Given the description of an element on the screen output the (x, y) to click on. 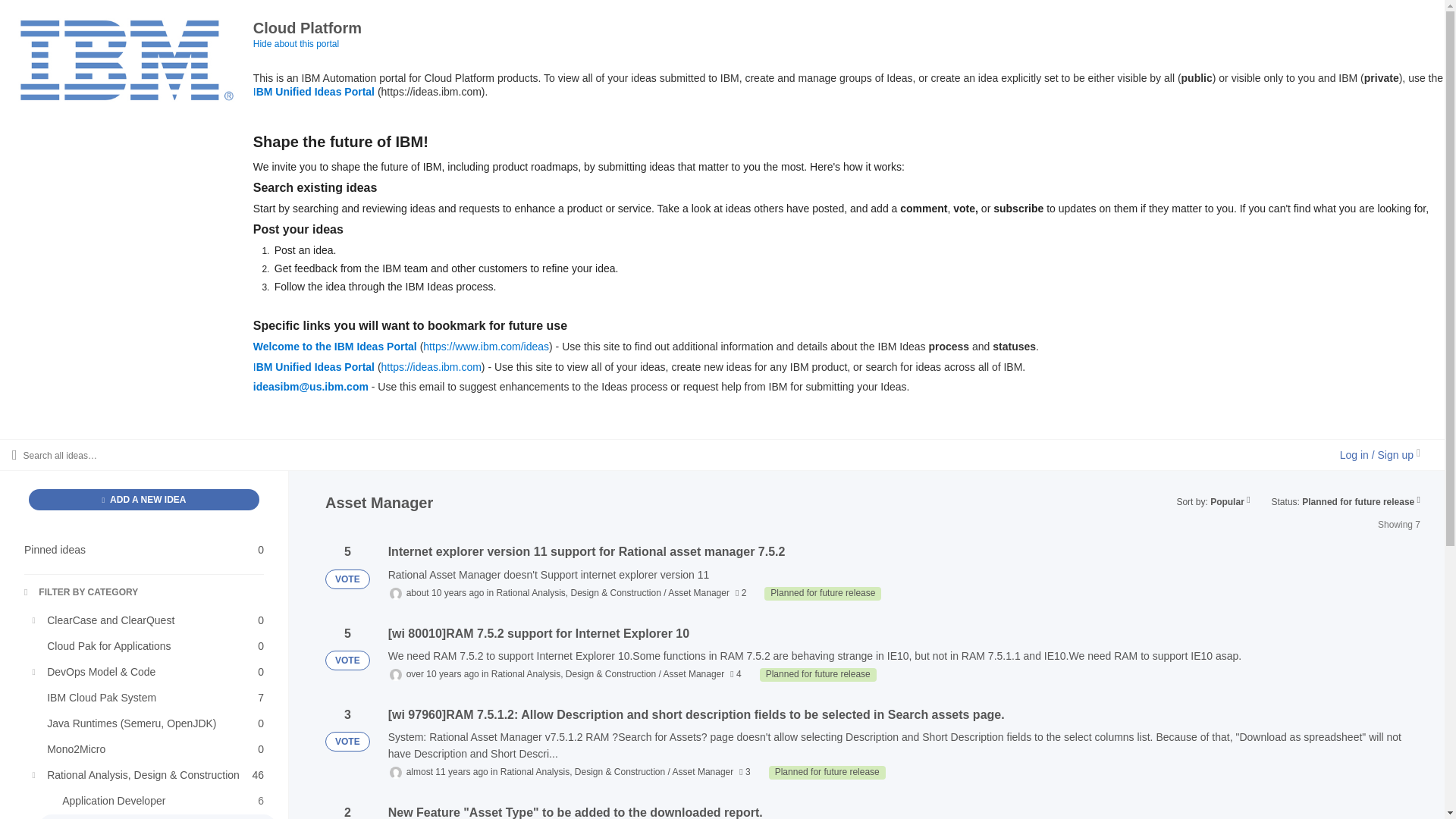
Welcome to the IBM Ideas Portal (334, 346)
ADD A NEW IDEA (144, 499)
Planned for future release (818, 674)
Planned for future release (822, 593)
IBM Unified Ideas Portal (313, 91)
Hide about this portal (296, 43)
